Given the description of an element on the screen output the (x, y) to click on. 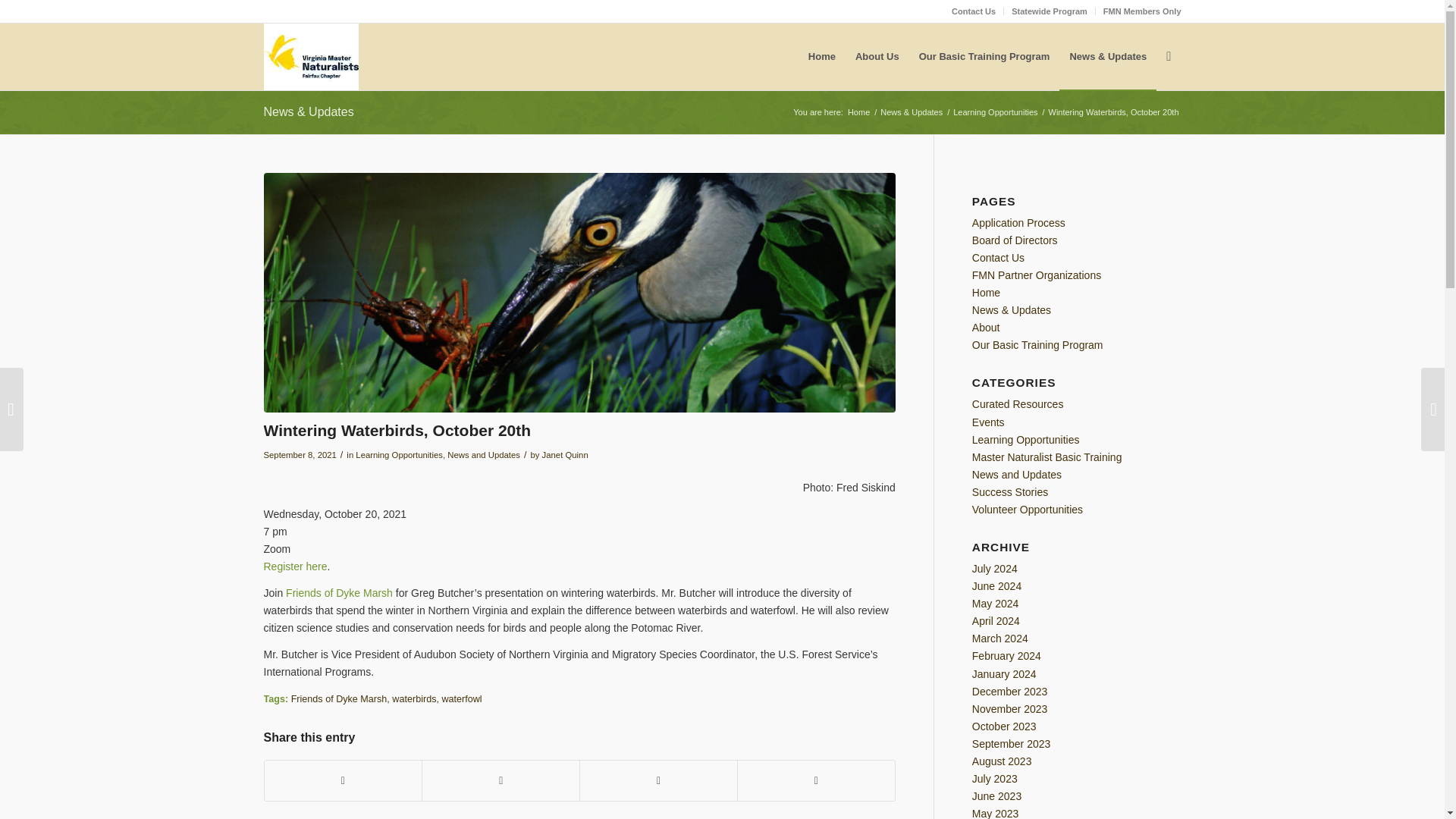
FMN Members Only (1141, 11)
Friends of Dyke Marsh (339, 698)
Statewide Program (1049, 11)
Application Process (1018, 223)
Janet Quinn (564, 454)
Home (986, 292)
waterbirds (413, 698)
Register here (295, 566)
Friends of Dyke Marsh (339, 592)
News and Updates (482, 454)
About Us (876, 56)
Fairfax Master Naturalists (858, 112)
FMN Partner Organizations (1036, 275)
Learning Opportunities (994, 112)
